Given the description of an element on the screen output the (x, y) to click on. 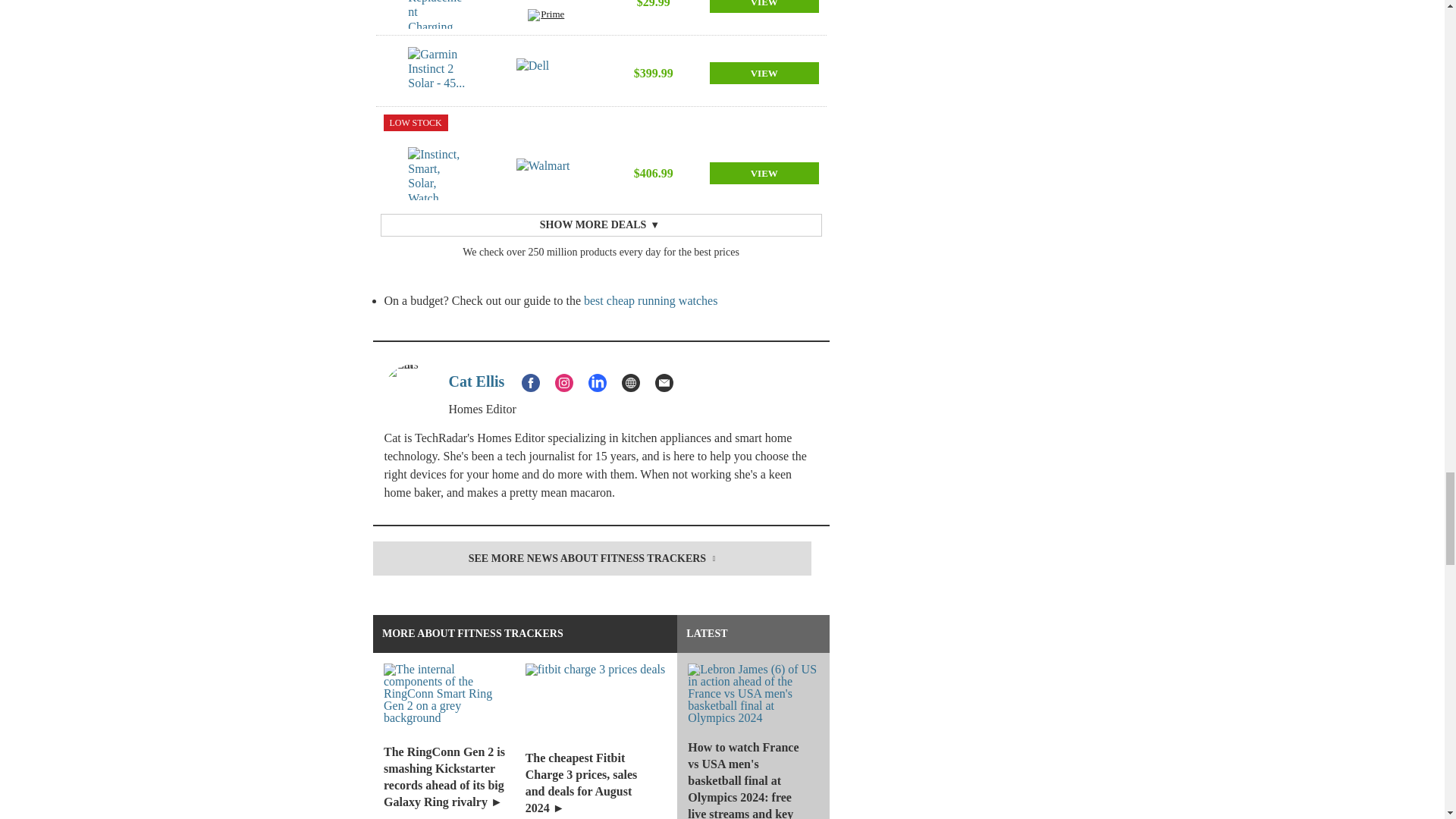
Low Stock (416, 122)
Prime (546, 17)
Garmin Instinct 2 Solar - 45... (437, 72)
Amazon (546, 4)
Instinct, Smart, Solar, Watch (437, 173)
Walmart (546, 173)
Dell (546, 73)
Garmin Replacement Charging... (437, 14)
